Given the description of an element on the screen output the (x, y) to click on. 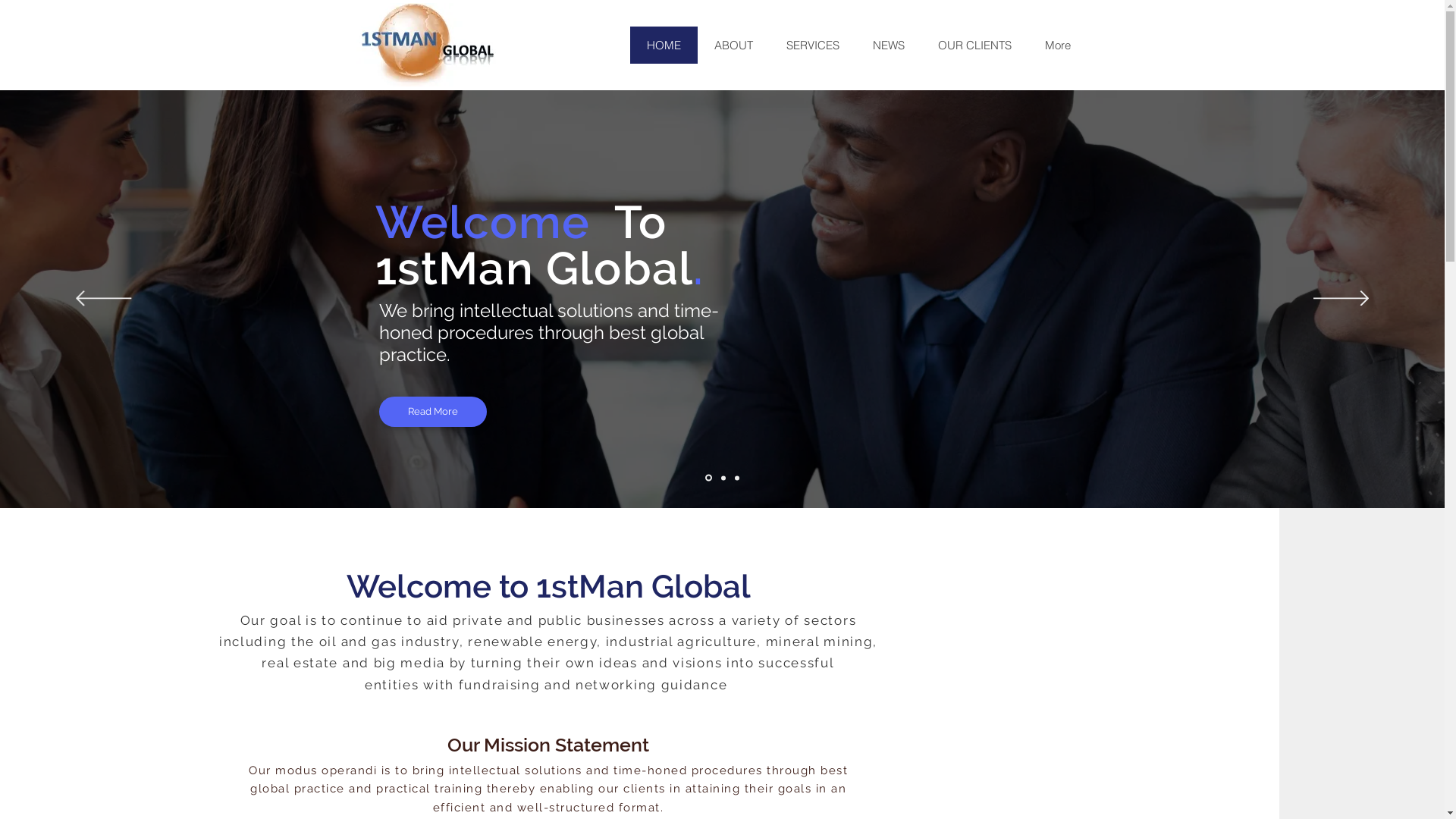
ABOUT Element type: text (733, 44)
OUR CLIENTS Element type: text (973, 44)
Read More Element type: text (432, 411)
SERVICES Element type: text (811, 44)
HOME Element type: text (662, 44)
NEWS Element type: text (887, 44)
